Given the description of an element on the screen output the (x, y) to click on. 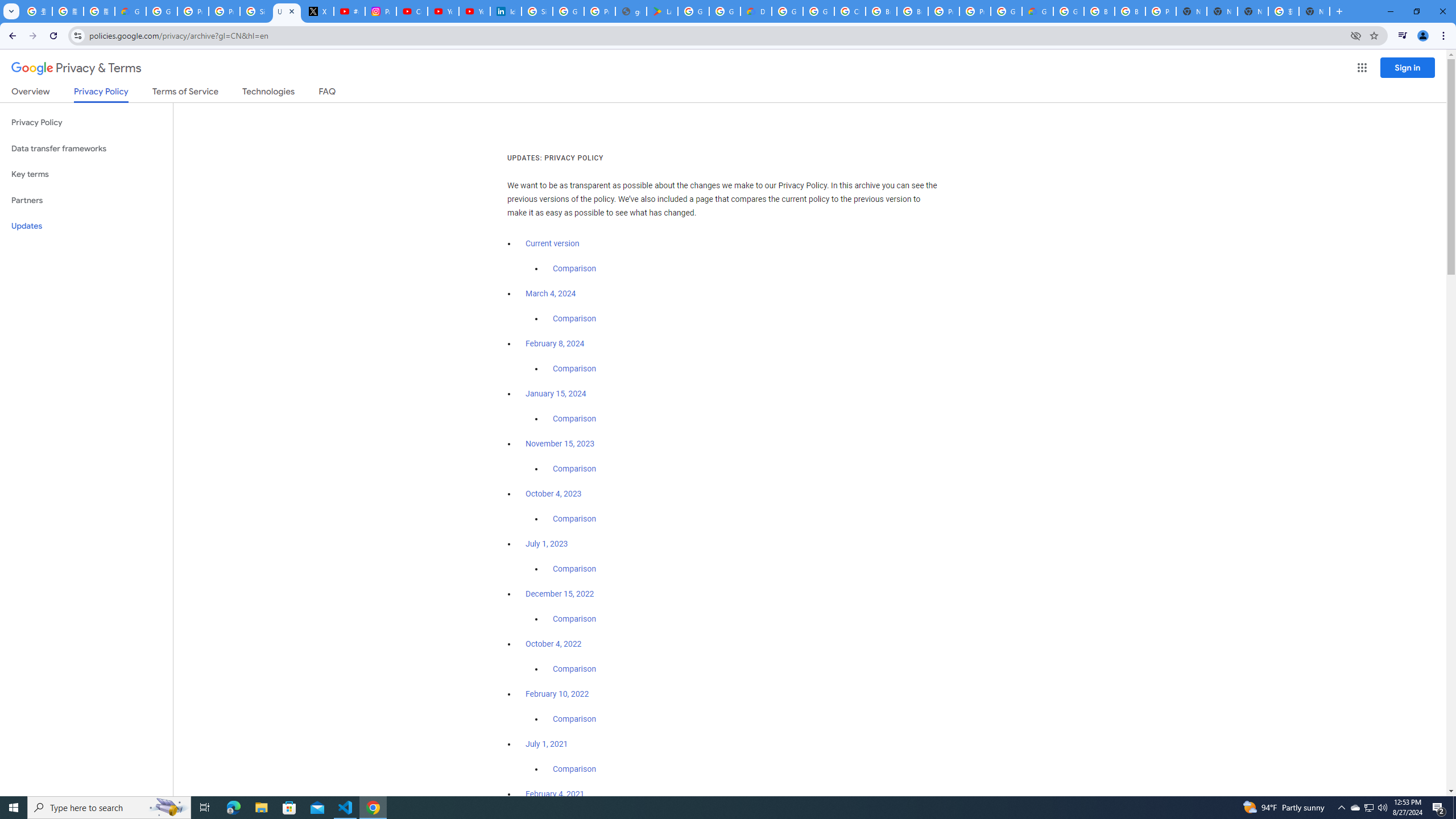
February 4, 2021 (555, 793)
December 15, 2022 (559, 593)
October 4, 2022 (553, 643)
New Tab (1190, 11)
